Given the description of an element on the screen output the (x, y) to click on. 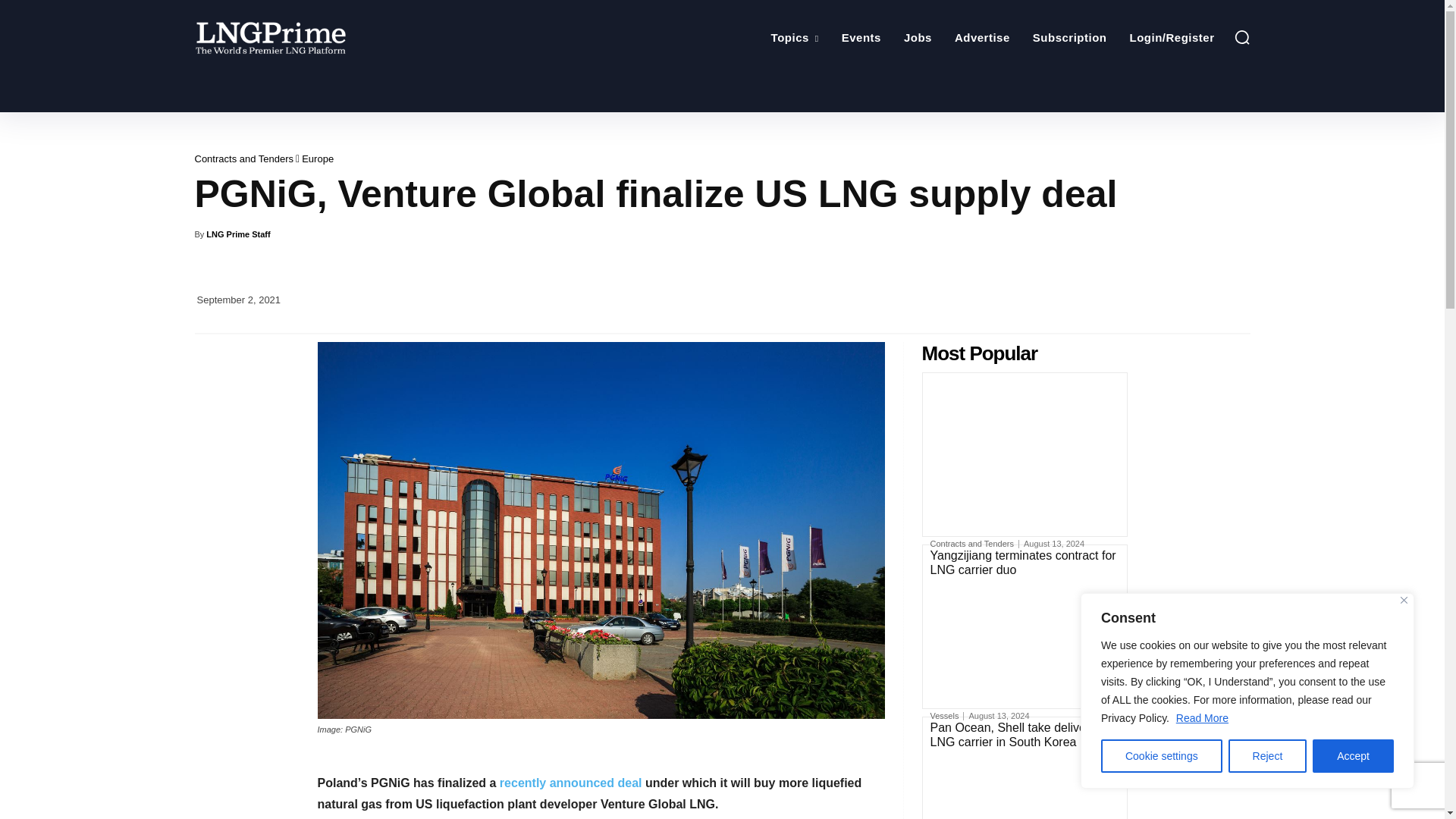
Reject (1267, 756)
Accept (1353, 756)
Cookie settings (1161, 756)
Read More (1201, 717)
